Given the description of an element on the screen output the (x, y) to click on. 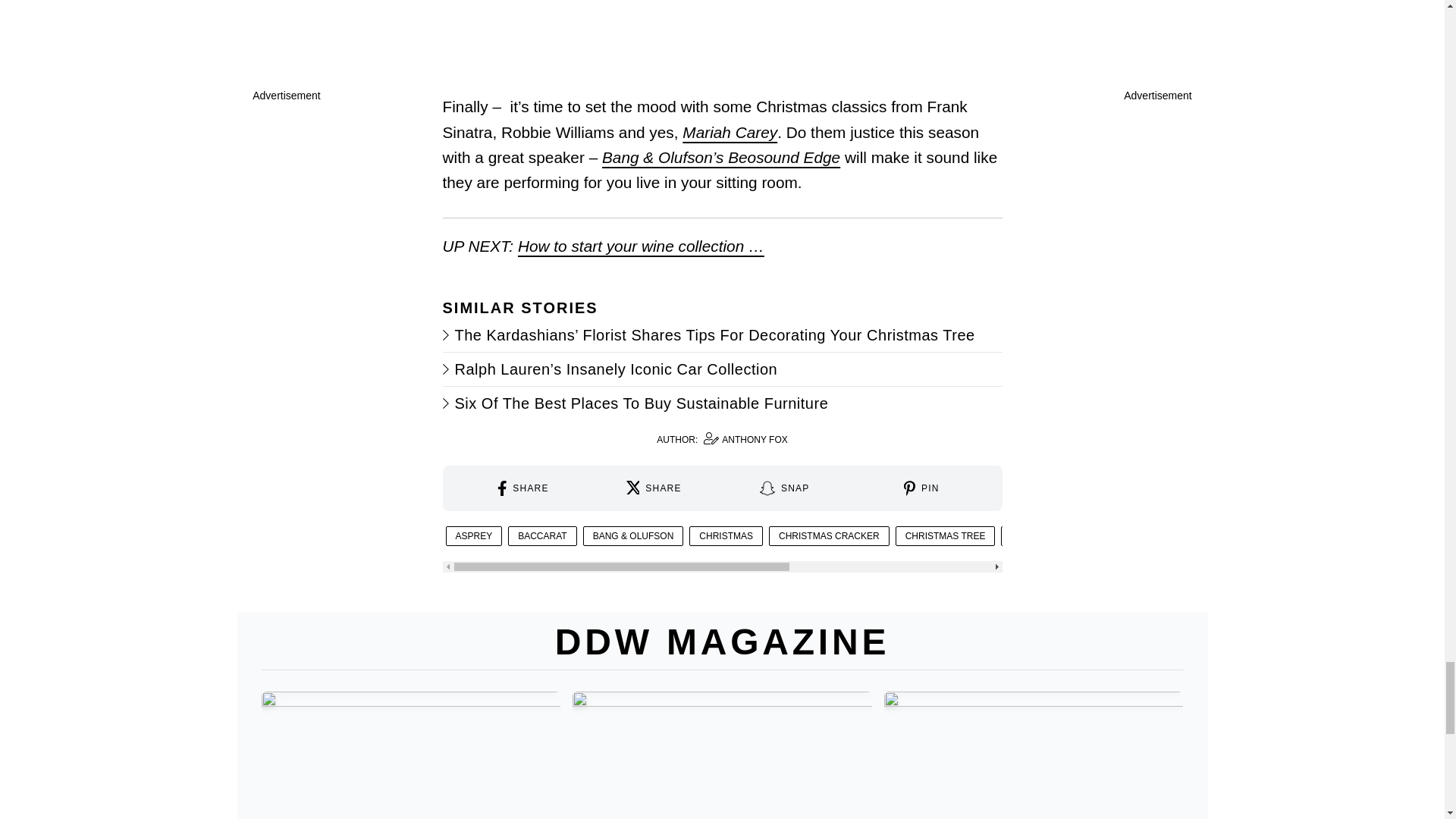
SHARE (653, 488)
Mariah Carey (722, 439)
SHARE (729, 131)
